Given the description of an element on the screen output the (x, y) to click on. 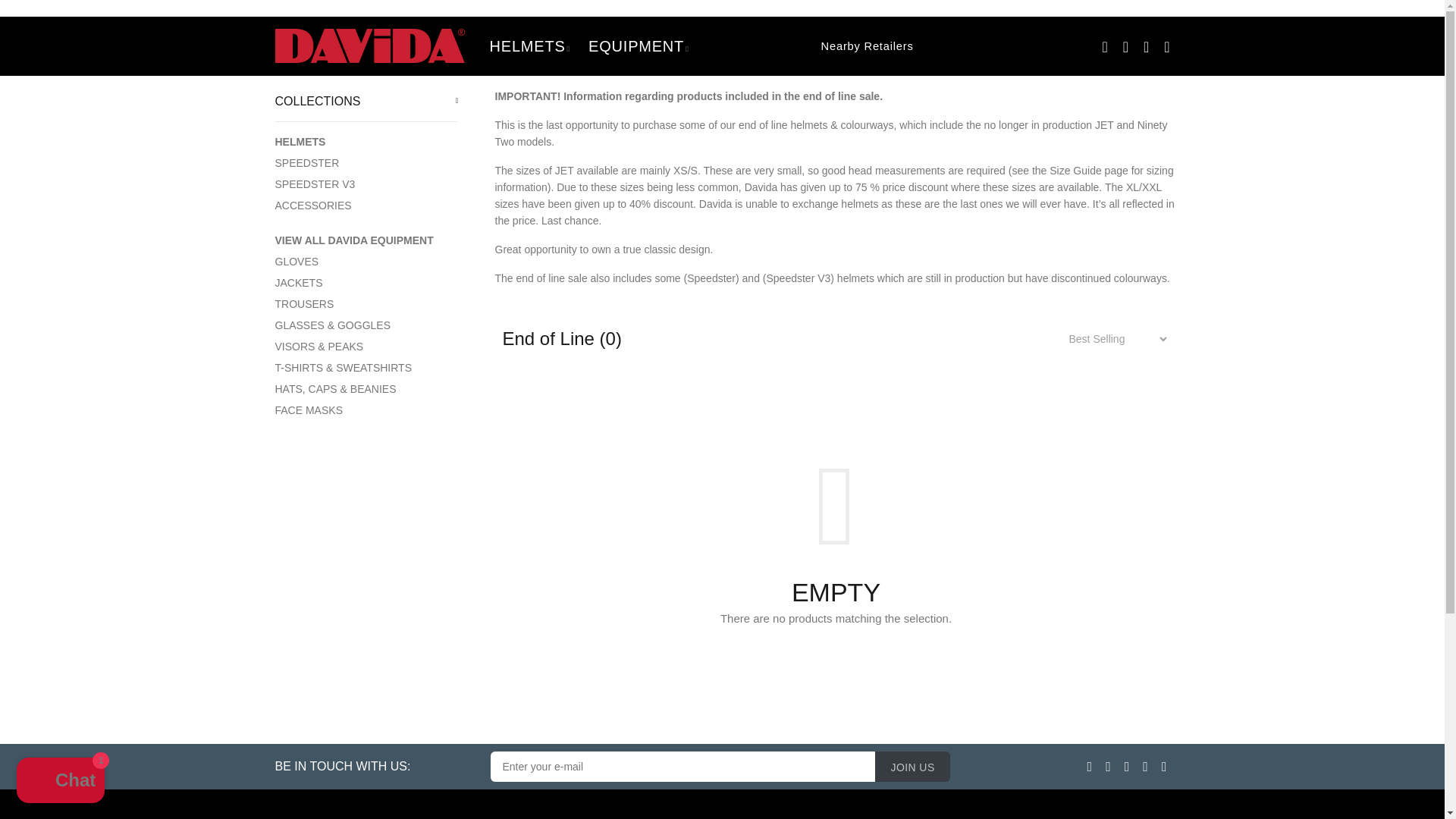
EQUIPMENT (638, 45)
Shopify online store chat (60, 781)
Nearby Retailers (806, 46)
HELMETS (529, 45)
